Given the description of an element on the screen output the (x, y) to click on. 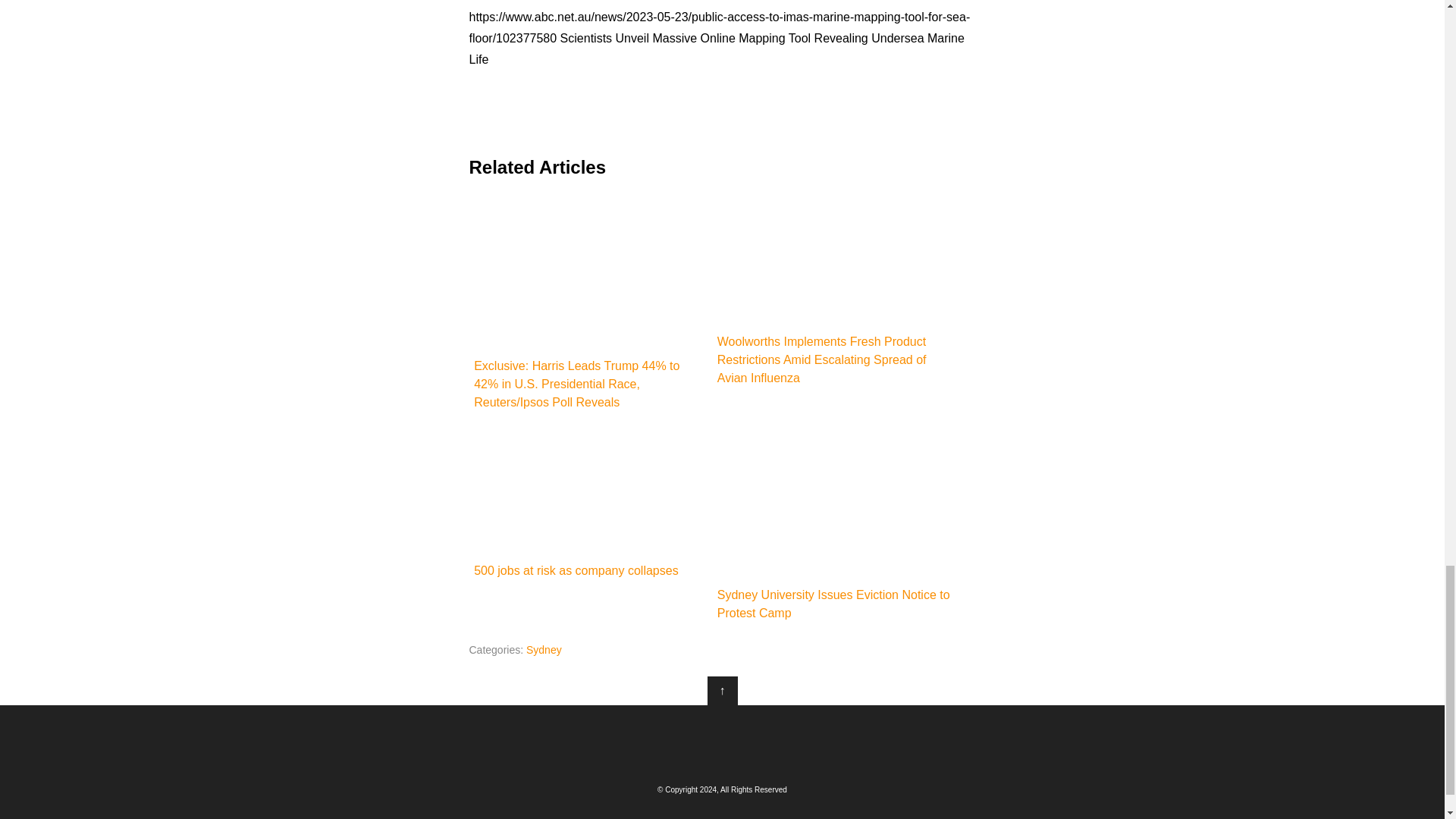
Sydneynewstoday.com (721, 742)
500 jobs at risk as company collapses (590, 490)
Sydney University Issues Eviction Notice to Protest Camp (833, 523)
Sydney (543, 649)
500 jobs at risk as company collapses (590, 502)
Sydney University Issues Eviction Notice to Protest Camp (833, 502)
